Given the description of an element on the screen output the (x, y) to click on. 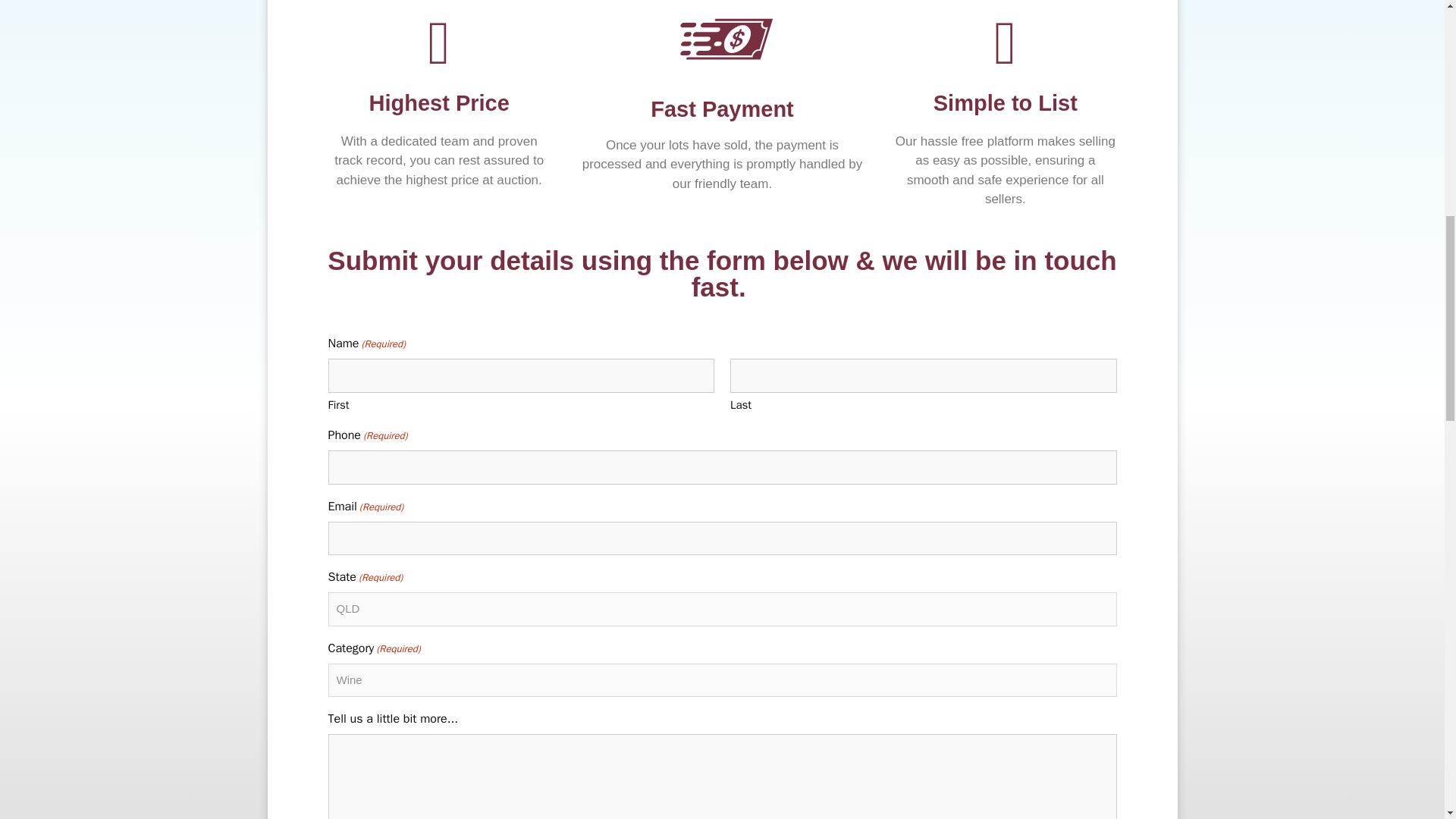
Scroll back to top (1406, 720)
